Given the description of an element on the screen output the (x, y) to click on. 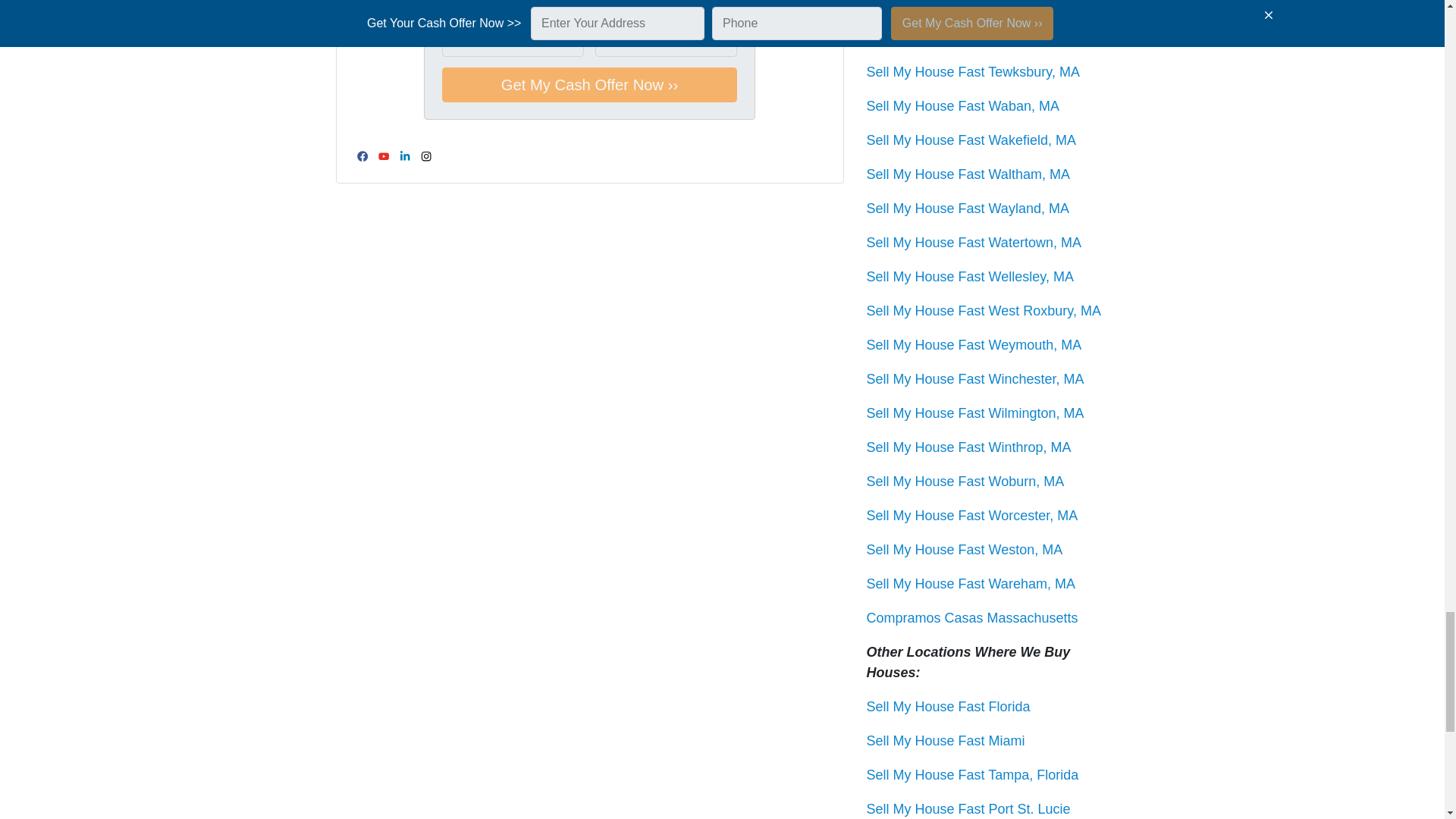
YouTube (383, 156)
Facebook (362, 156)
